Given the description of an element on the screen output the (x, y) to click on. 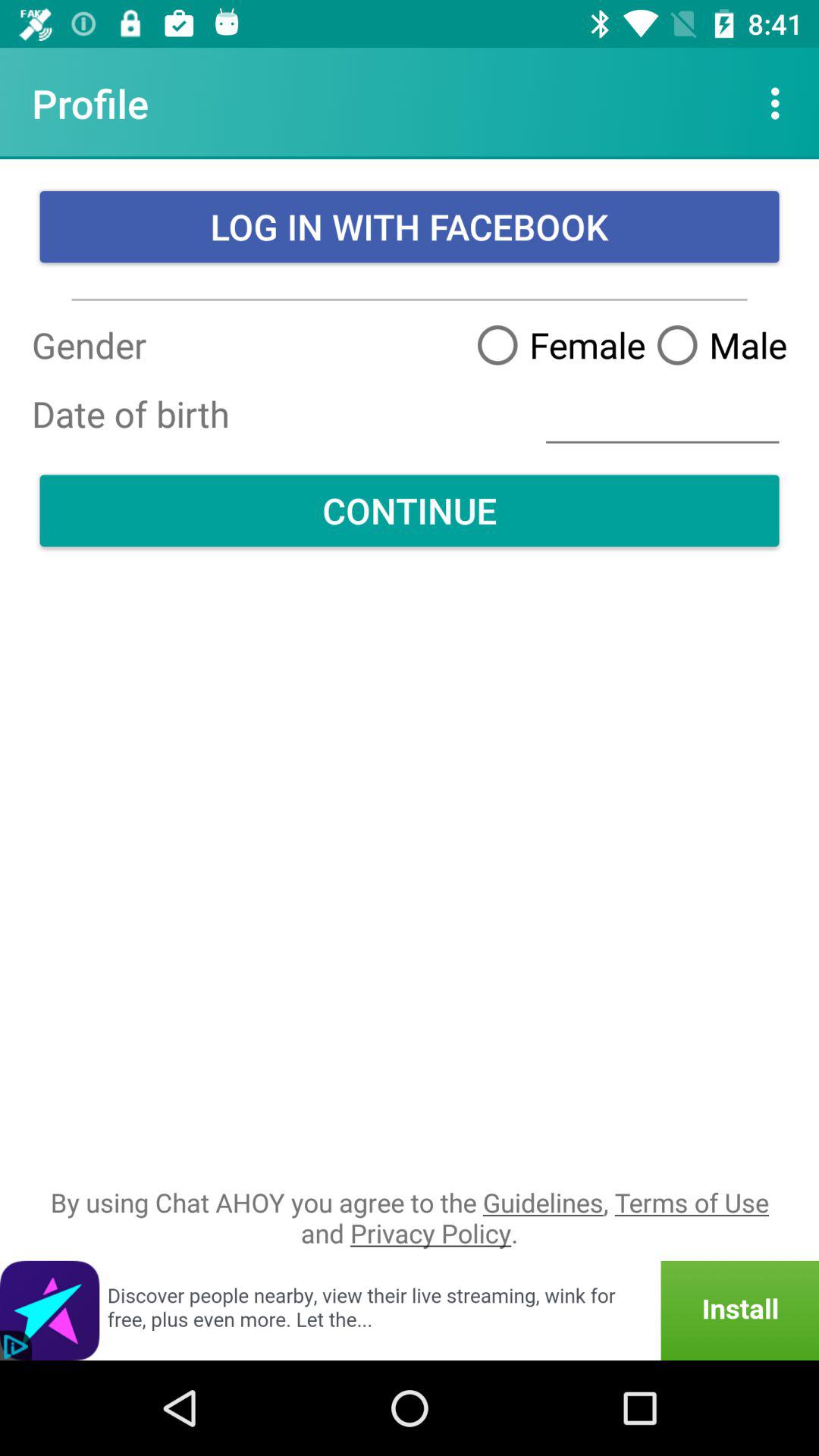
turn on the continue item (409, 510)
